Given the description of an element on the screen output the (x, y) to click on. 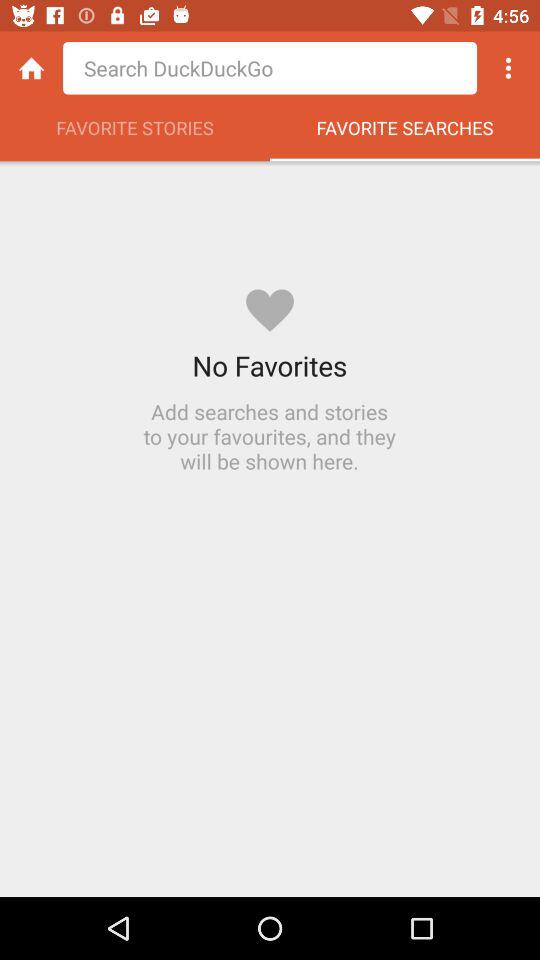
search bar (270, 68)
